Given the description of an element on the screen output the (x, y) to click on. 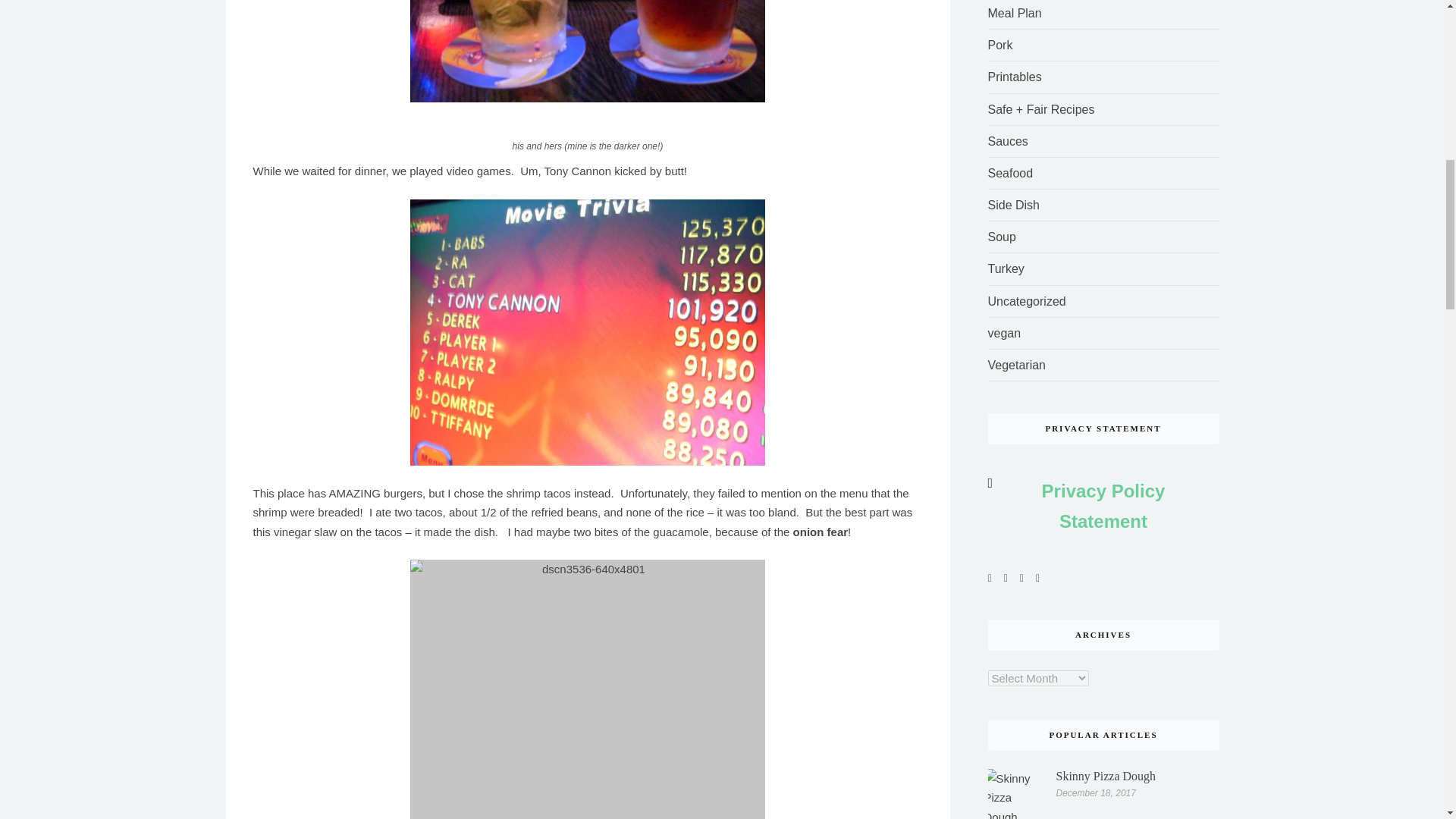
dscn3537-640x480 (587, 332)
Skinny Pizza Dough (1014, 794)
dscn3536-640x4801 (587, 689)
dscn3531-640x480 (587, 51)
